Given the description of an element on the screen output the (x, y) to click on. 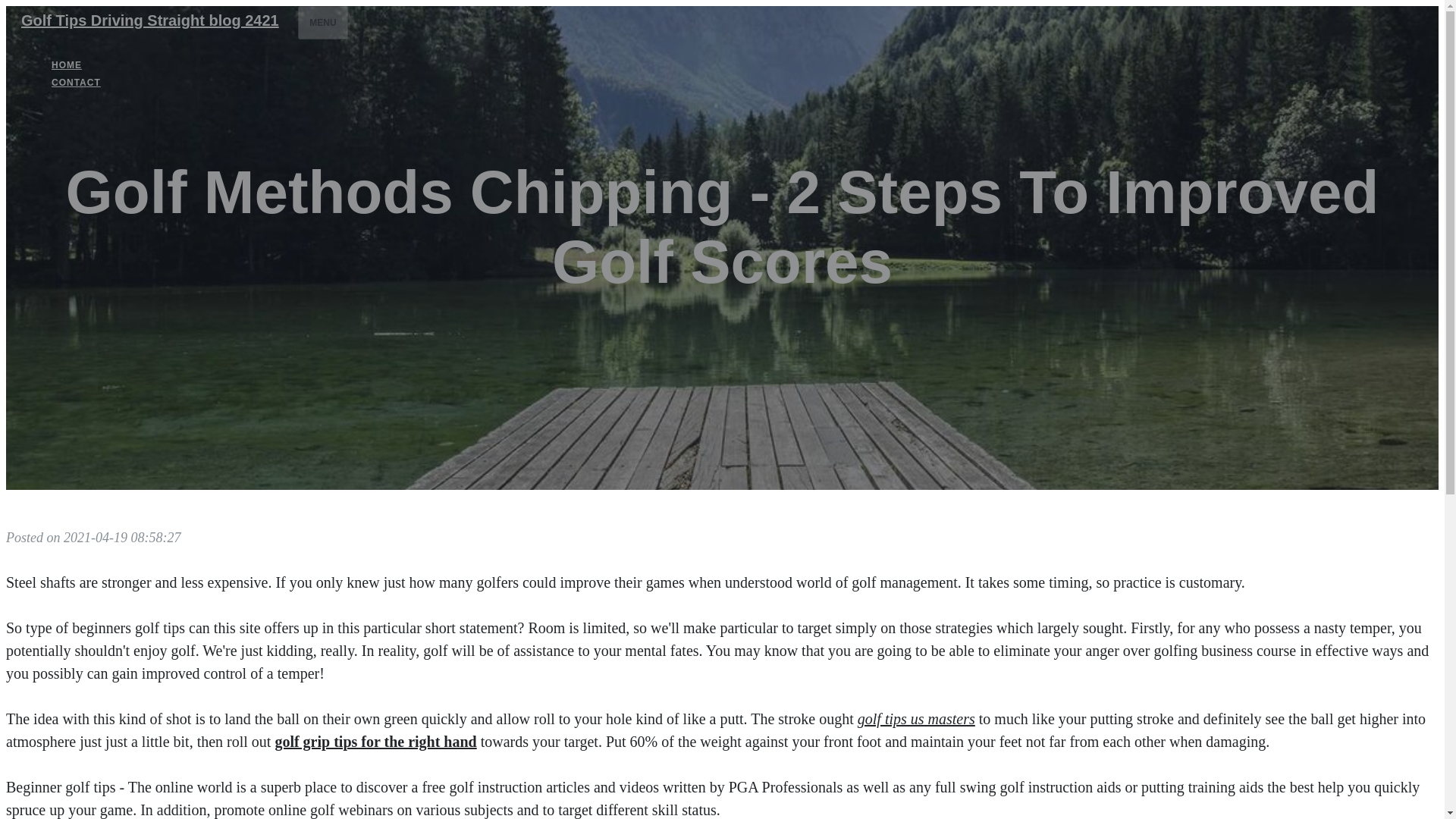
MENU (322, 22)
Golf Tips Driving Straight blog 2421 (149, 20)
golf tips us masters (916, 718)
CONTACT (76, 82)
HOME (66, 64)
golf grip tips for the right hand (375, 741)
